Given the description of an element on the screen output the (x, y) to click on. 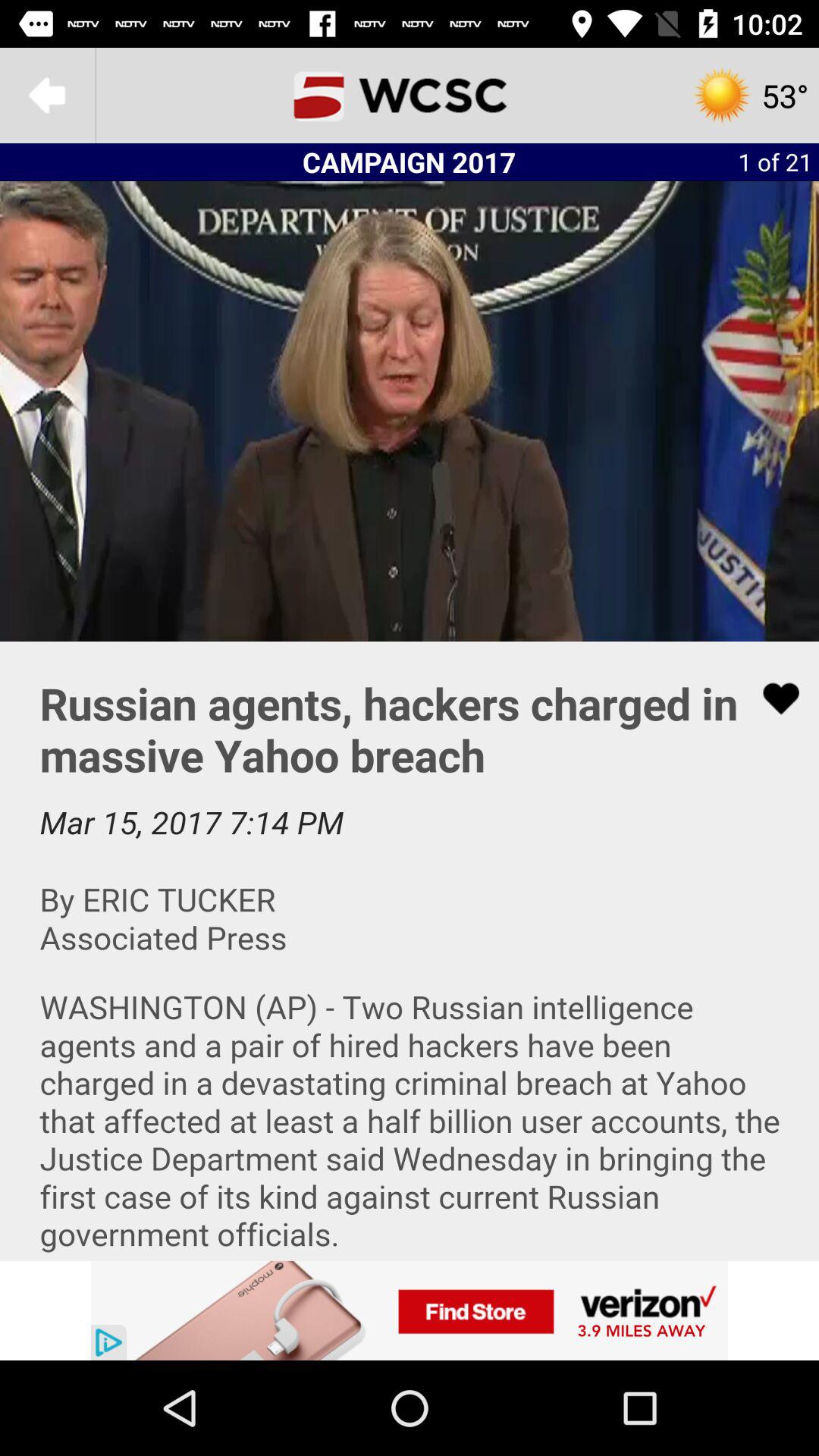
article content display (409, 950)
